Given the description of an element on the screen output the (x, y) to click on. 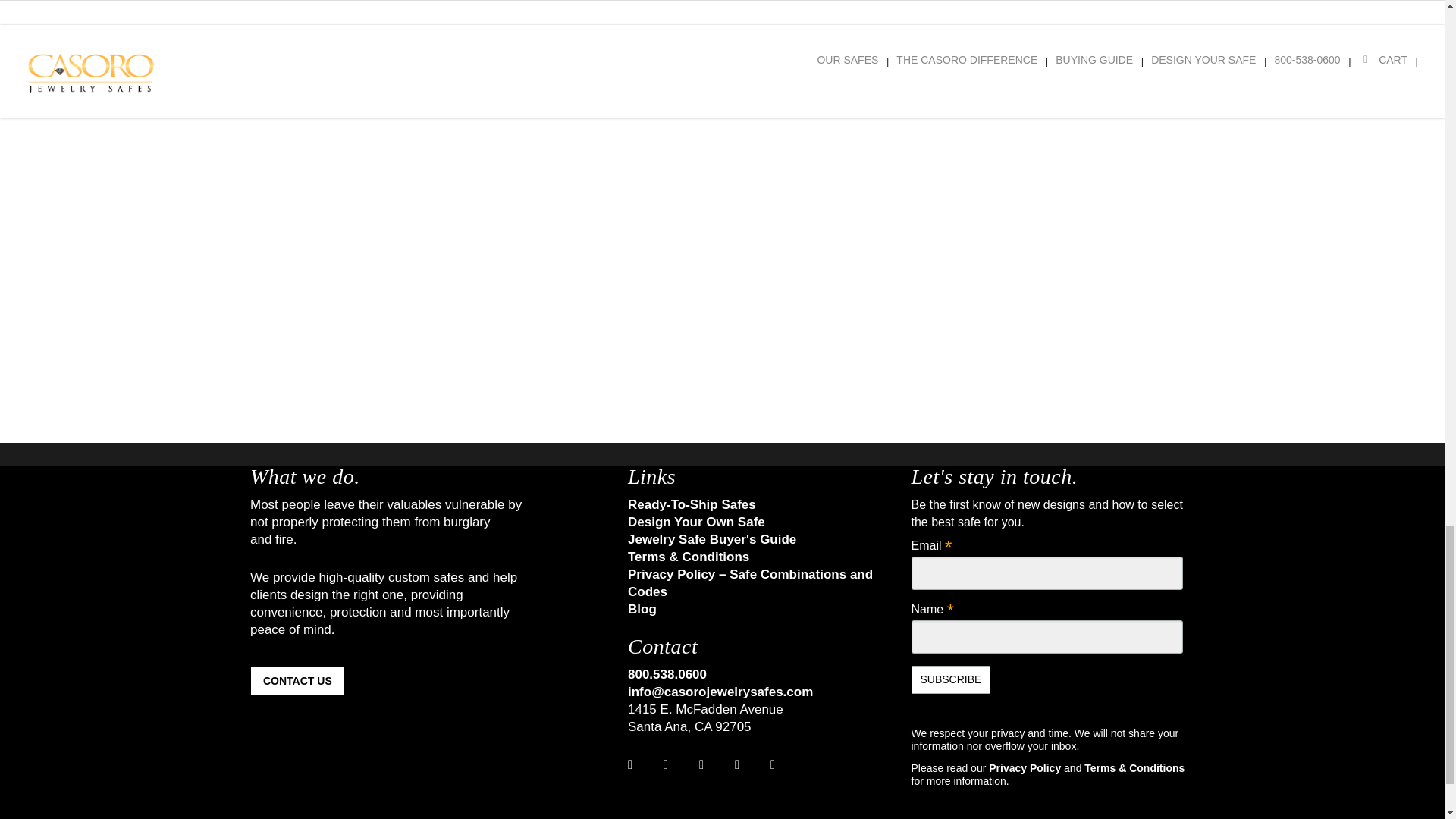
Subscribe (951, 679)
